Given the description of an element on the screen output the (x, y) to click on. 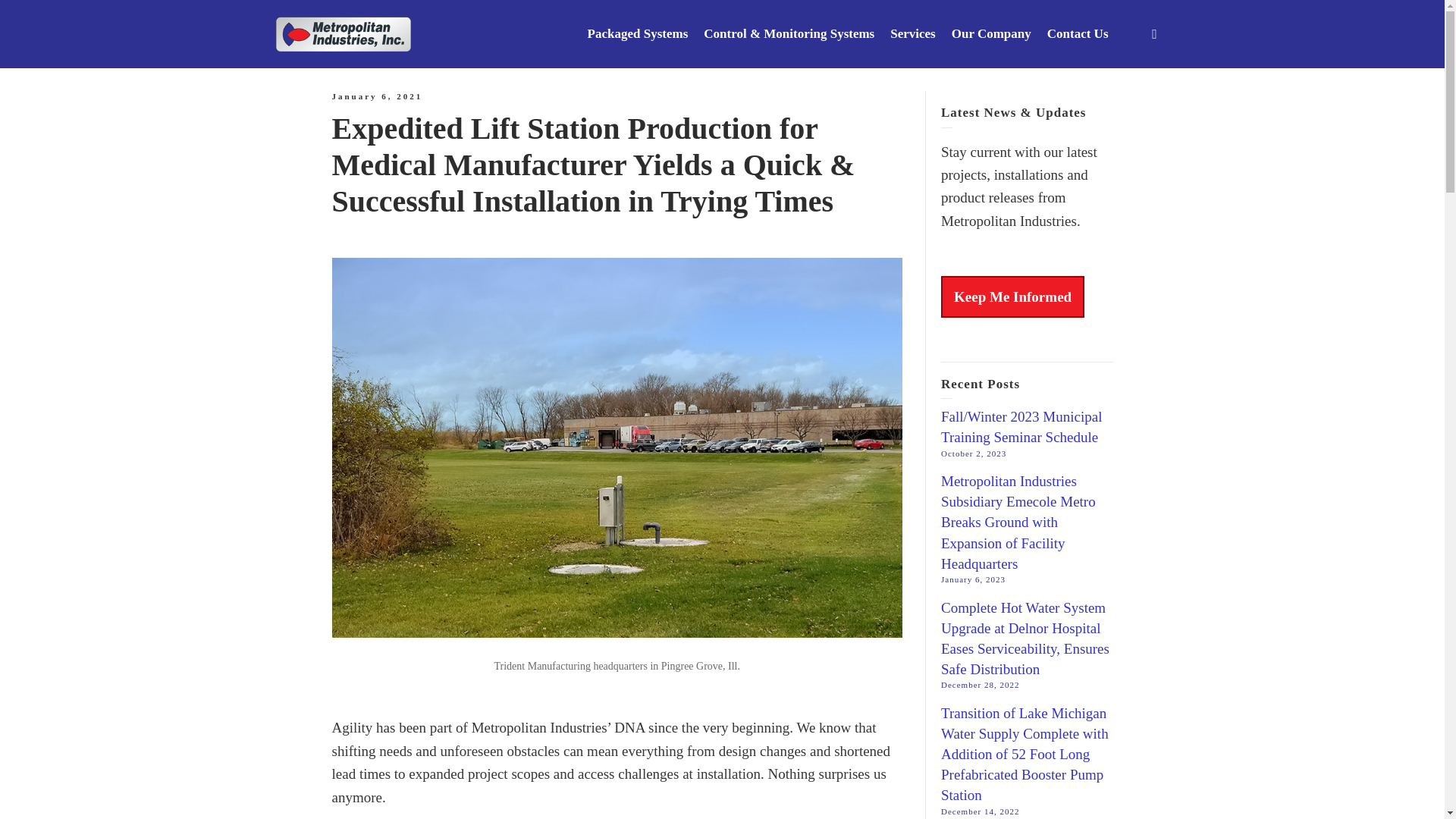
Keep Me Informed (1012, 296)
Packaged Systems (638, 33)
Metropolitan Industries (342, 32)
Our Company (991, 33)
Contact Us (1077, 33)
Services (912, 33)
